Given the description of an element on the screen output the (x, y) to click on. 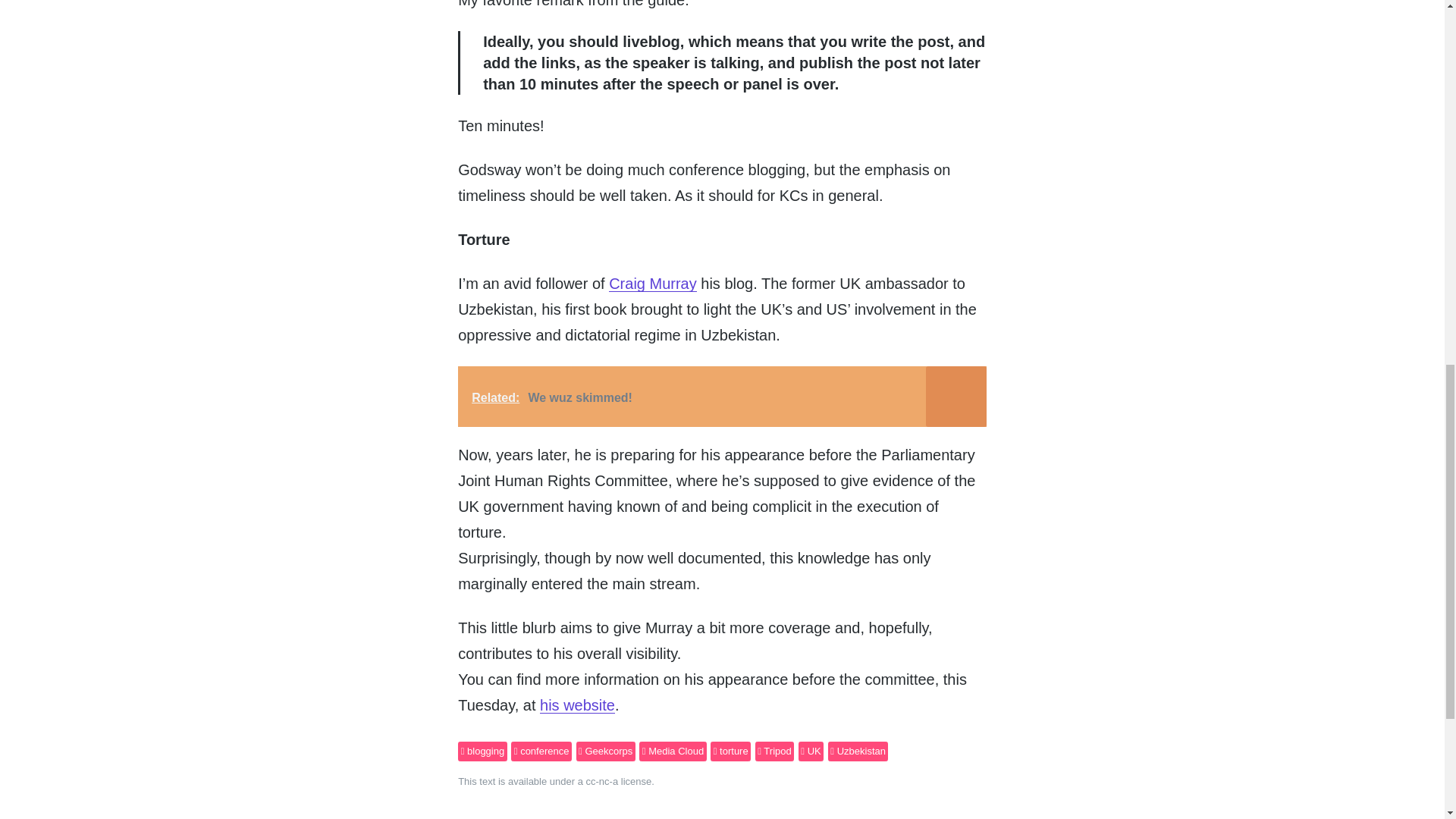
his website (577, 704)
 blogging (482, 751)
 conference (541, 751)
Craig Murray (652, 283)
Related:  We wuz skimmed! (722, 396)
 Geekcorps (605, 751)
 Media Cloud (672, 751)
